Given the description of an element on the screen output the (x, y) to click on. 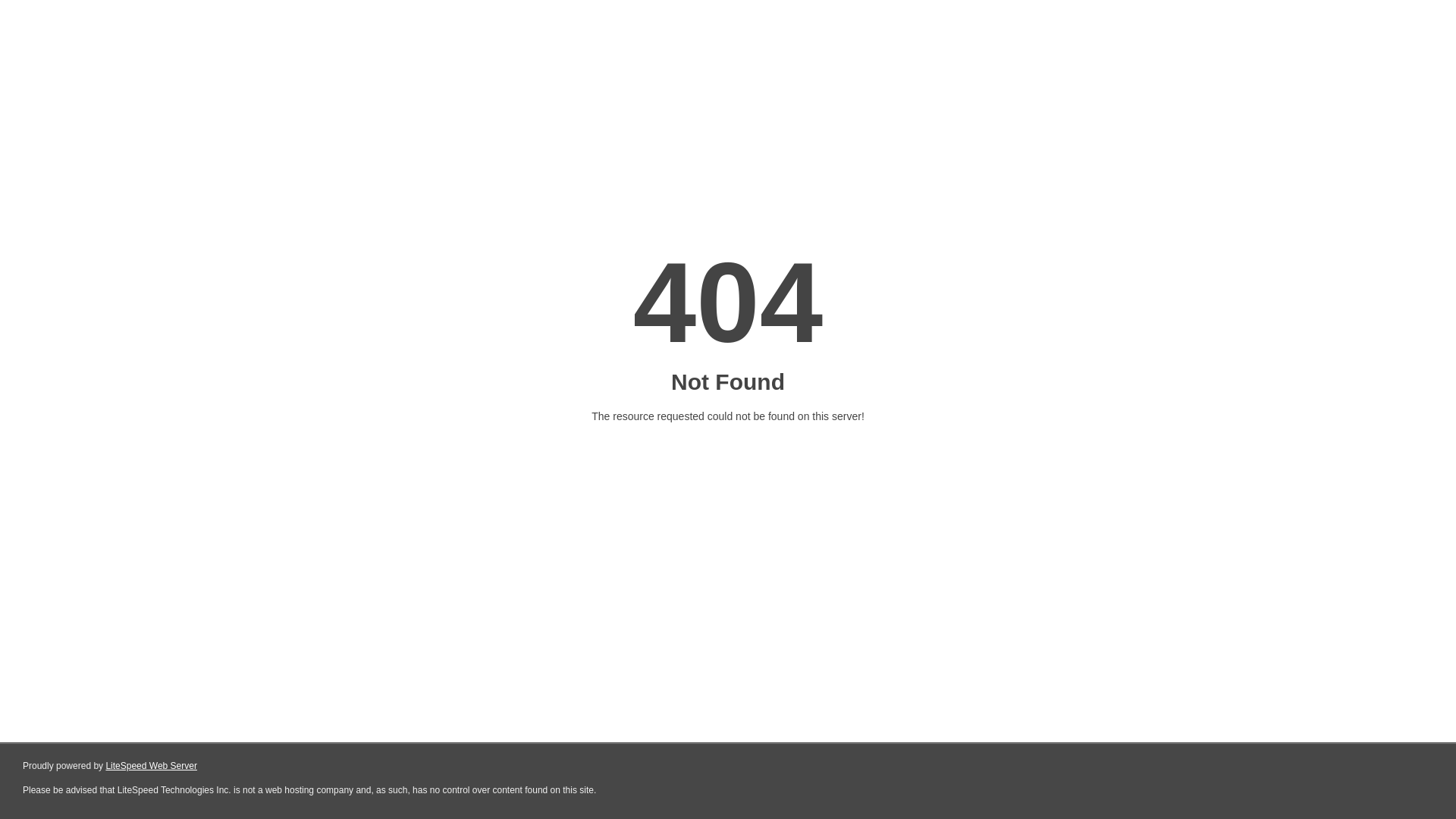
LiteSpeed Web Server Element type: text (151, 765)
